Given the description of an element on the screen output the (x, y) to click on. 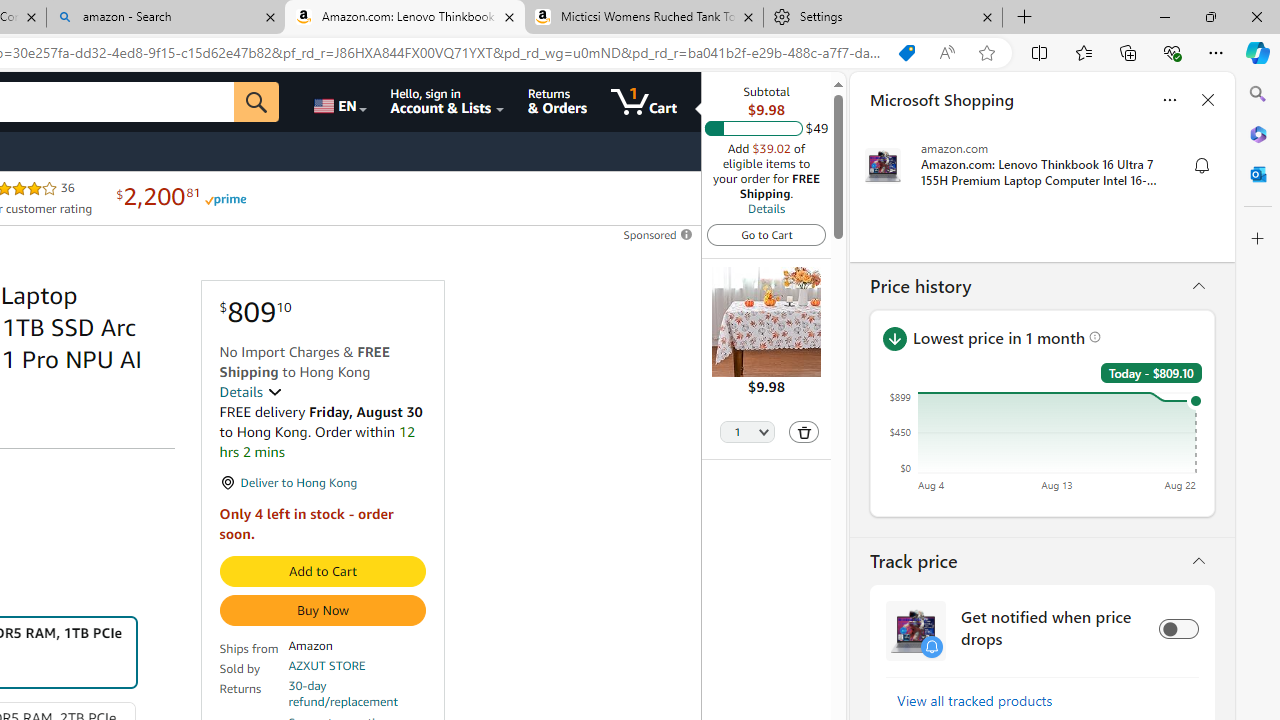
Go (257, 101)
Delete (804, 431)
Delete (803, 431)
Choose a language for shopping. (339, 101)
